Given the description of an element on the screen output the (x, y) to click on. 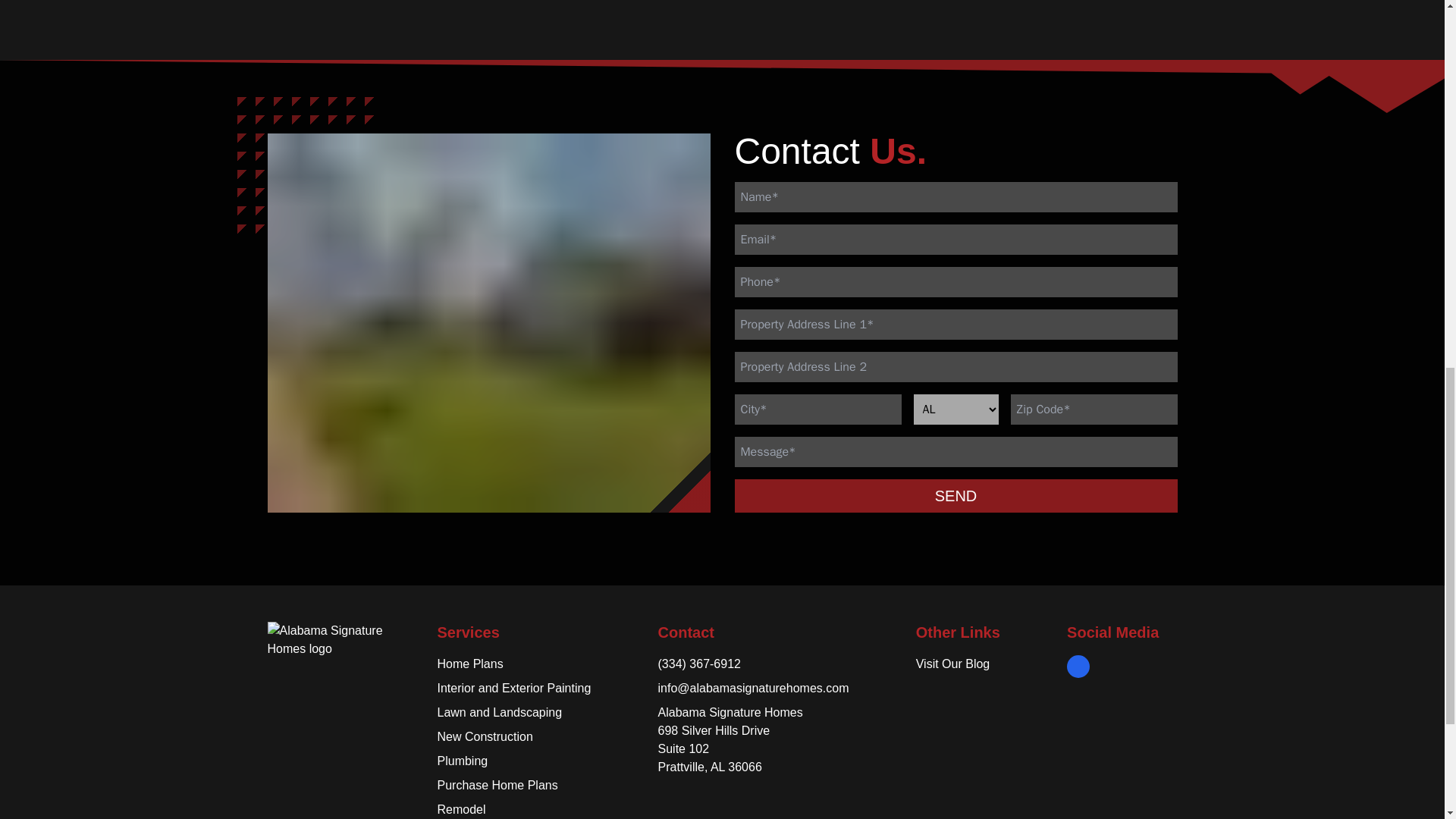
Lawn and Landscaping (499, 712)
SEND (954, 495)
Interior and Exterior Painting (513, 687)
Home Plans (469, 663)
Plumbing (461, 760)
Visit Our Blog (952, 663)
Purchase Home Plans (496, 784)
Remodel (460, 809)
New Construction (484, 736)
